Given the description of an element on the screen output the (x, y) to click on. 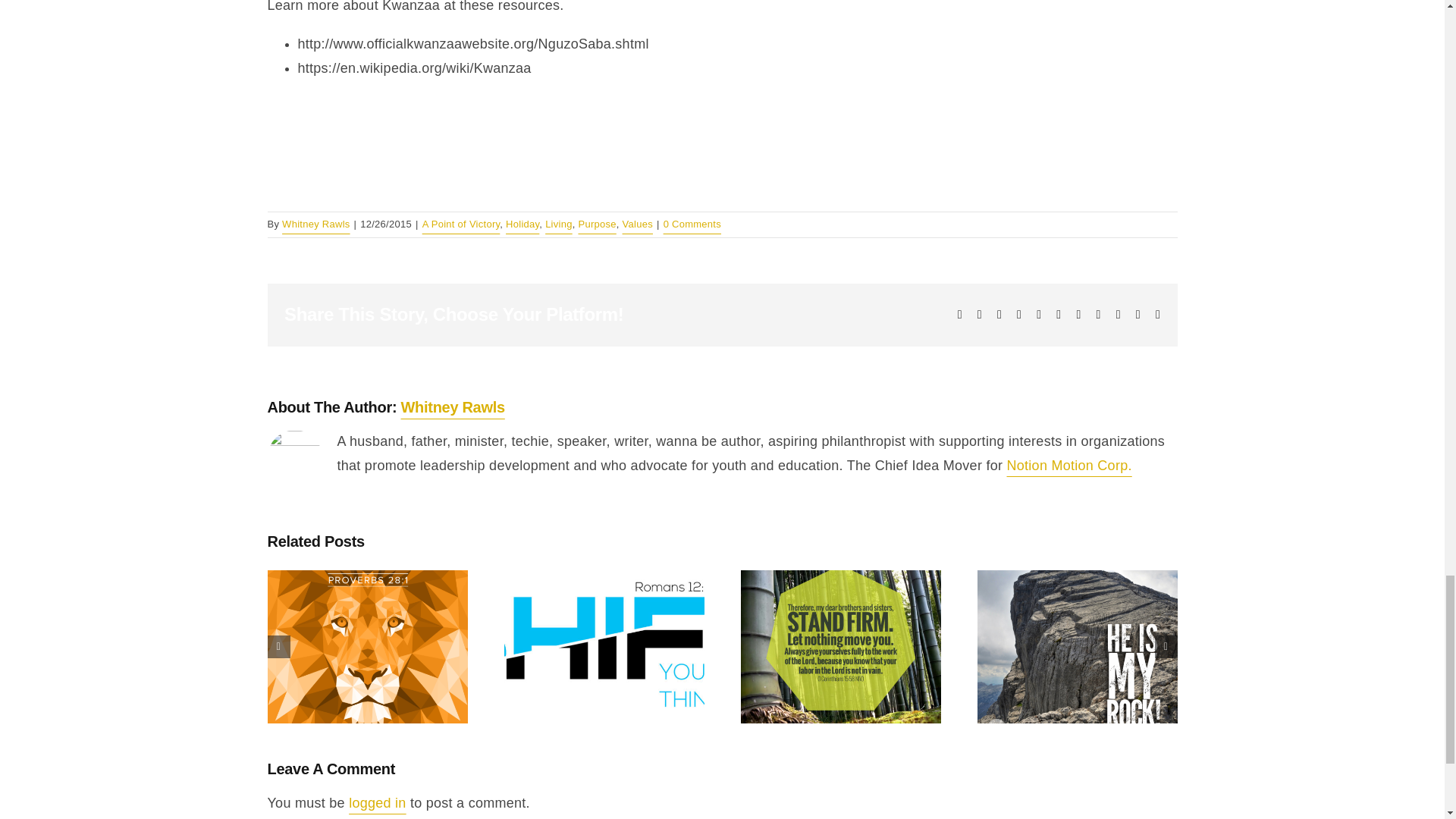
Holiday (521, 224)
A Point of Victory (461, 224)
0 Comments (691, 224)
Whitney Rawls (315, 224)
Posts by Whitney Rawls (315, 224)
Notion Motion Corp. (1069, 465)
Living (558, 224)
Whitney Rawls (453, 406)
Values (637, 224)
Purpose (596, 224)
